Given the description of an element on the screen output the (x, y) to click on. 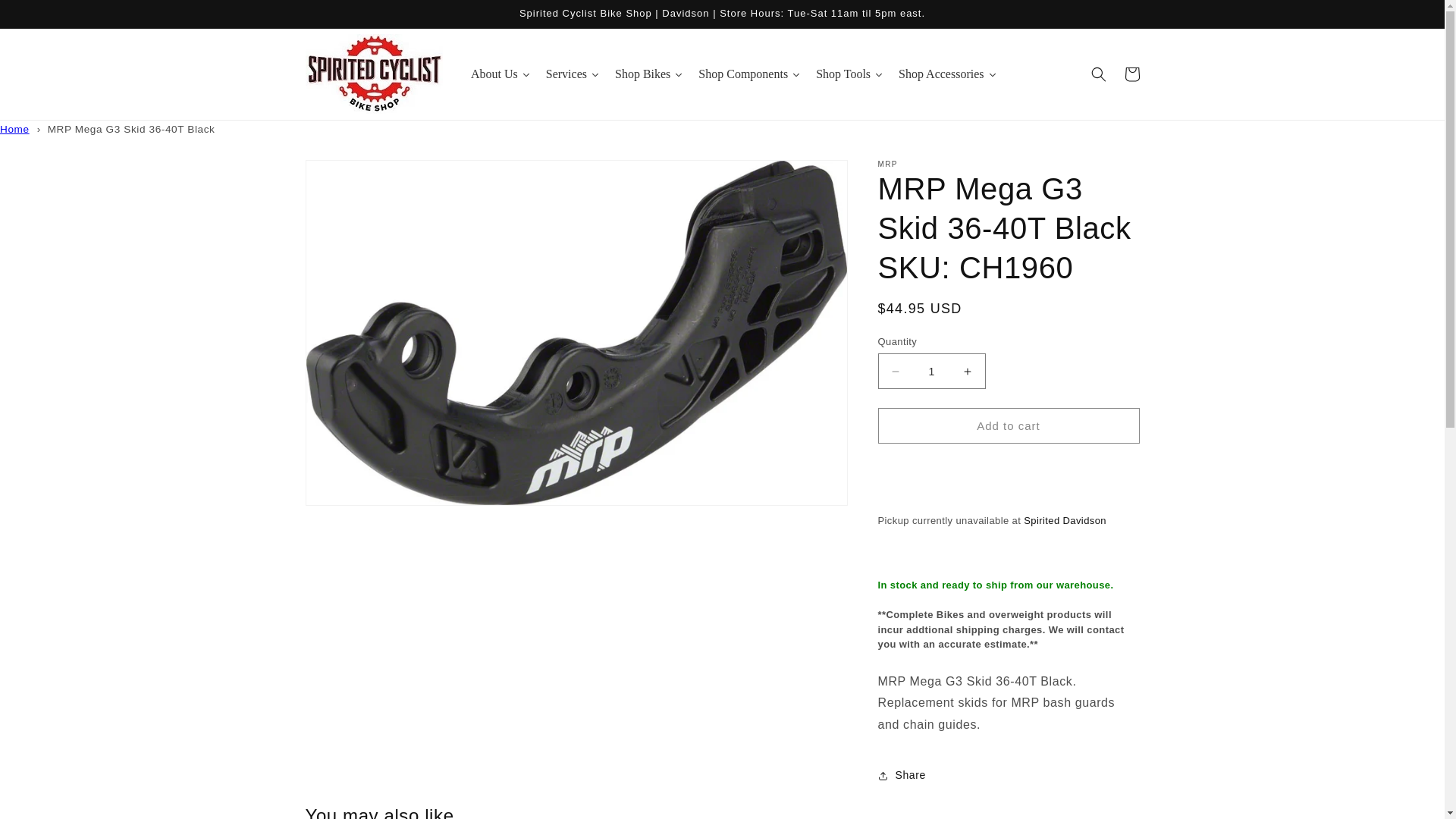
Cart (1131, 73)
Shop Bikes (648, 74)
Shop Tools (849, 74)
1 (931, 370)
About Us (500, 74)
Add to cart (1008, 425)
Services (572, 74)
Skip to content (45, 17)
About Us (500, 74)
Shop Bikes (648, 74)
